Given the description of an element on the screen output the (x, y) to click on. 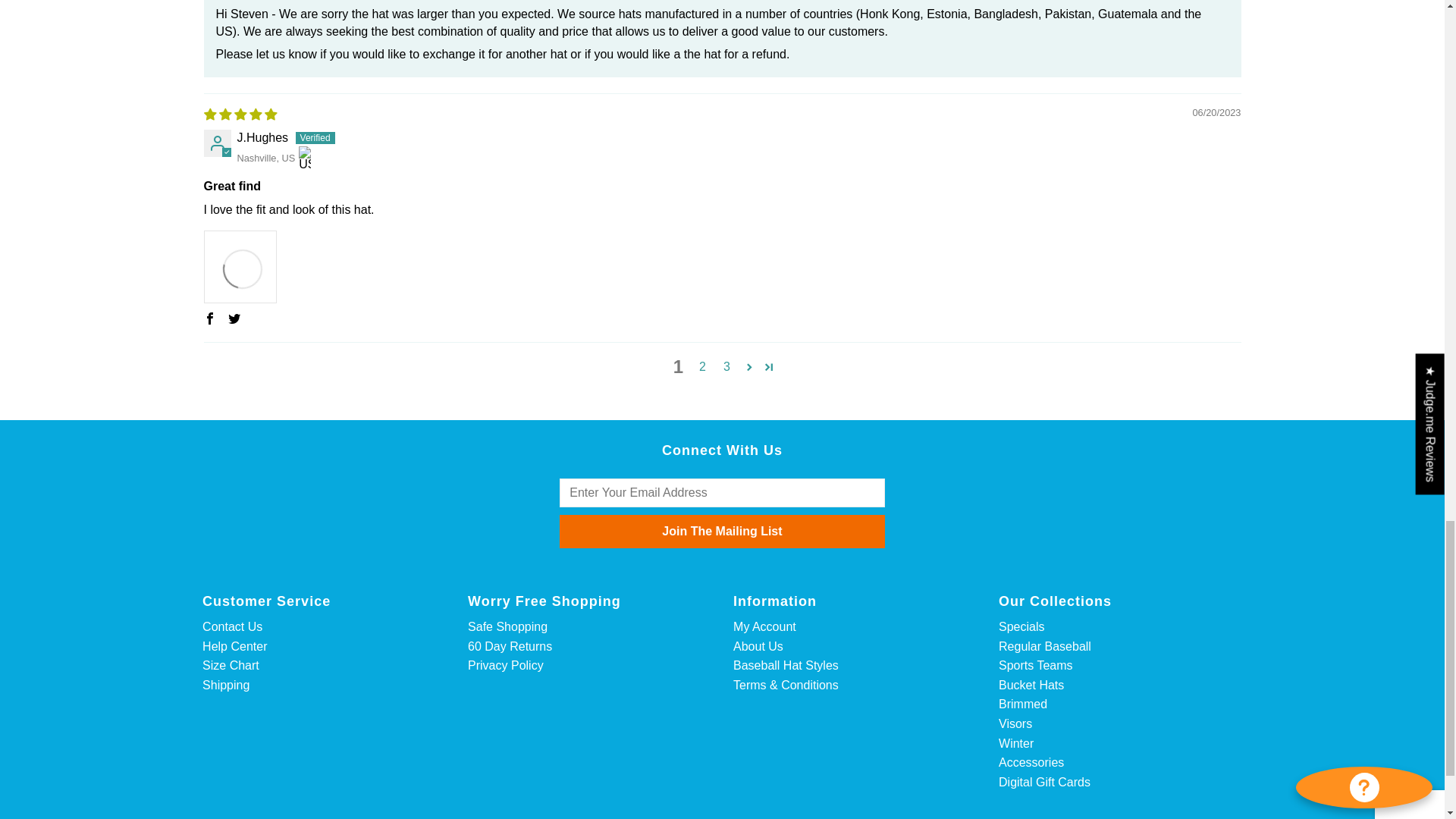
Join The Mailing List (721, 531)
Facebook (208, 318)
Twitter (233, 318)
